Given the description of an element on the screen output the (x, y) to click on. 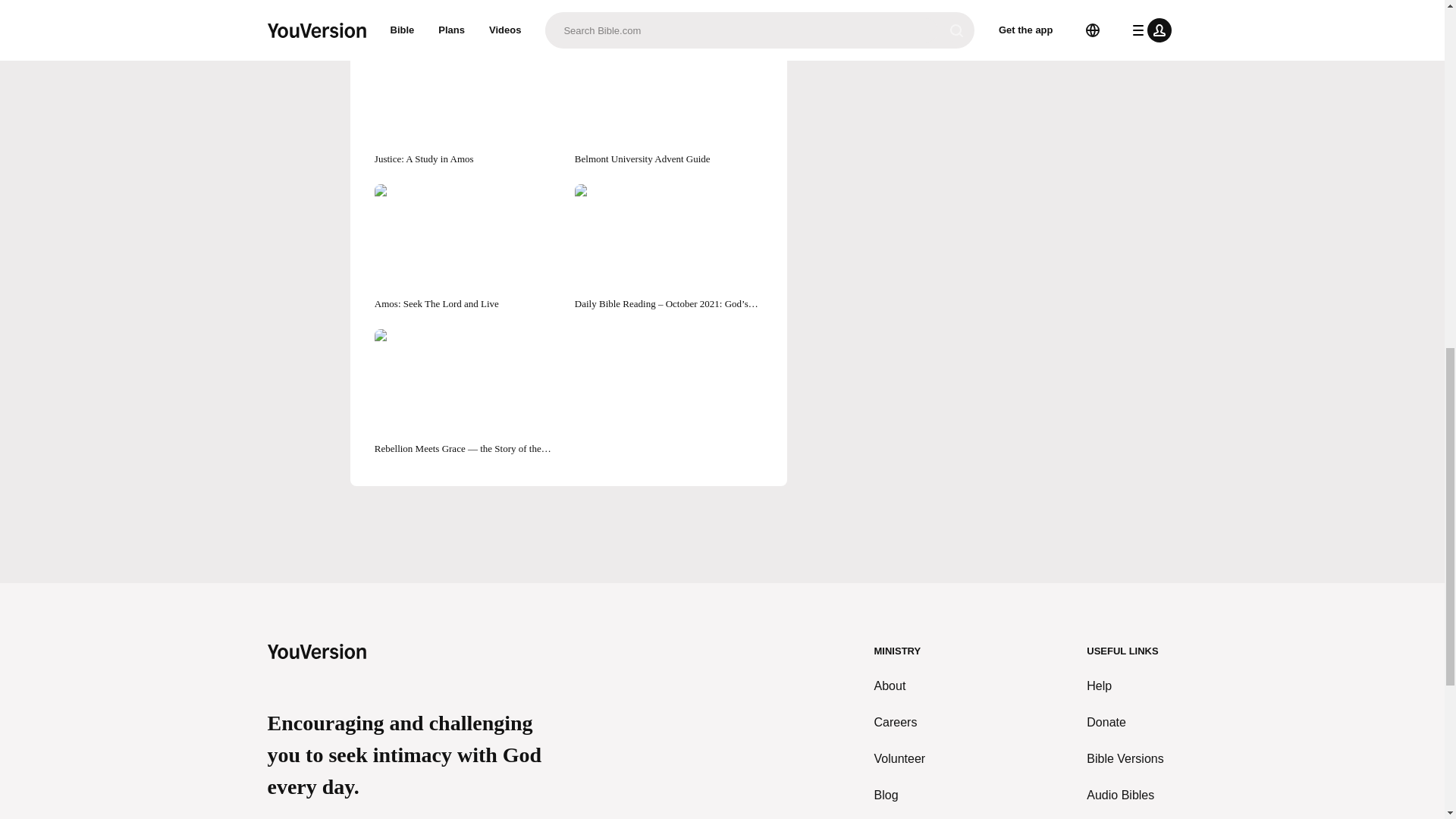
Donate (1131, 722)
Justice: A Study in Amos (468, 102)
Blog (900, 795)
About (900, 686)
Belmont University Advent Guide (668, 102)
Careers (900, 722)
Help (1131, 686)
Amos: Seek The Lord and Live (468, 247)
Bible Versions (1131, 759)
Volunteer (900, 759)
Audio Bibles (1131, 795)
